Given the description of an element on the screen output the (x, y) to click on. 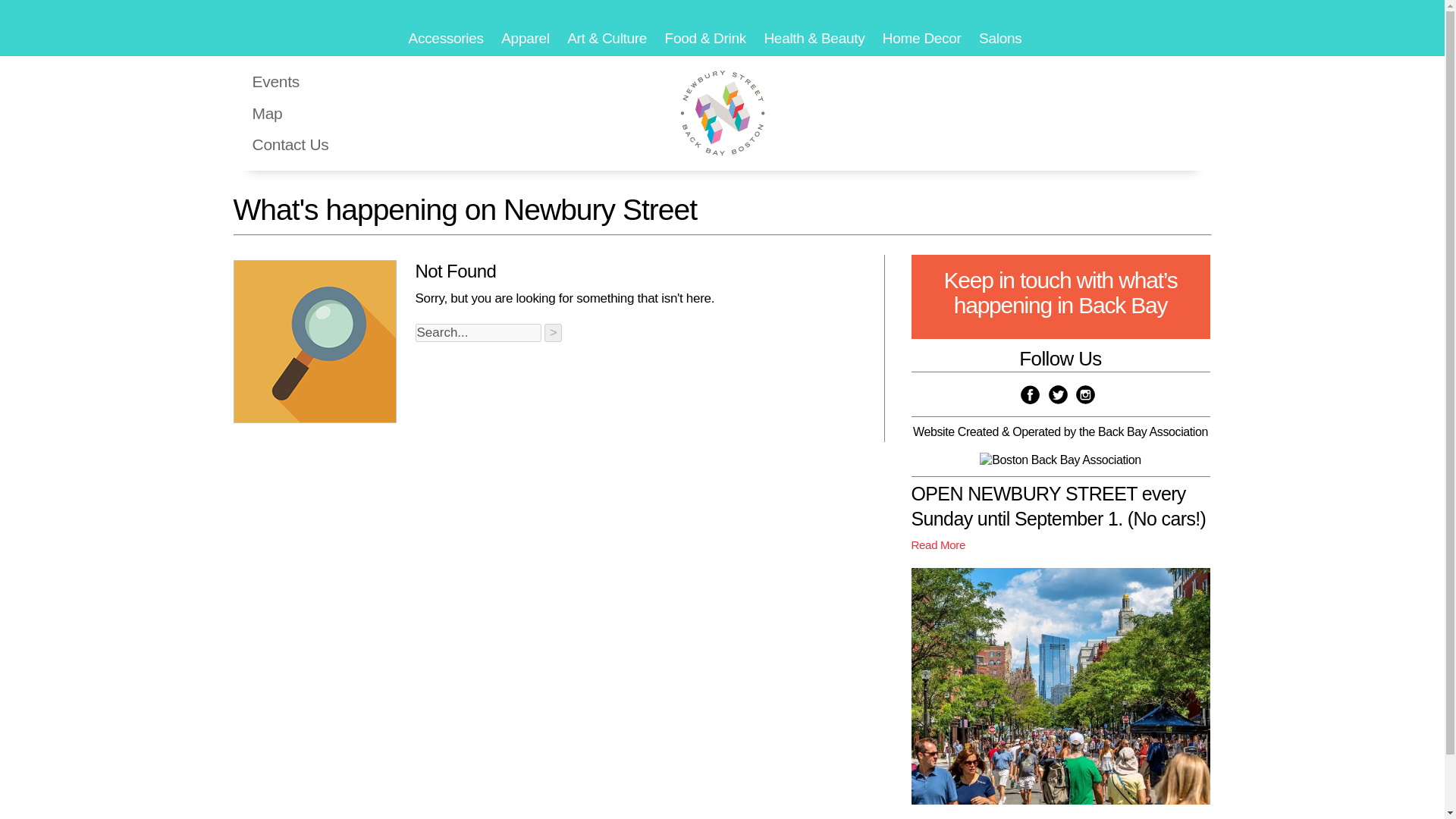
Search... (477, 332)
Facebook (1029, 394)
Apparel (531, 37)
Map (266, 113)
Visit the Back Bay Association website (1060, 445)
Contact Us (290, 144)
Twitter (1057, 394)
Home Decor (928, 37)
Read More (938, 544)
Instagram (1084, 394)
